Given the description of an element on the screen output the (x, y) to click on. 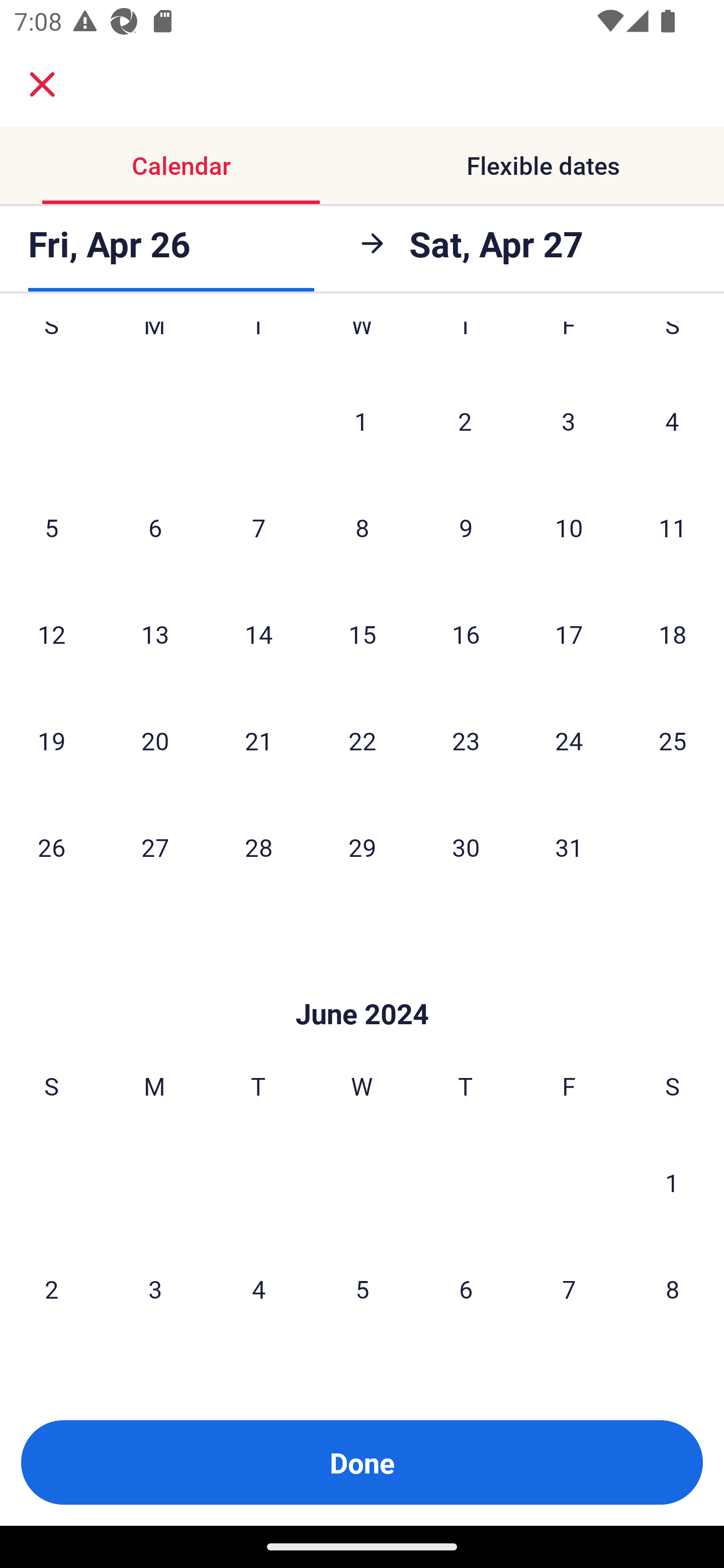
close. (42, 84)
Flexible dates (542, 164)
1 Wednesday, May 1, 2024 (361, 420)
2 Thursday, May 2, 2024 (464, 420)
3 Friday, May 3, 2024 (568, 420)
4 Saturday, May 4, 2024 (672, 420)
5 Sunday, May 5, 2024 (51, 527)
6 Monday, May 6, 2024 (155, 527)
7 Tuesday, May 7, 2024 (258, 527)
8 Wednesday, May 8, 2024 (362, 527)
9 Thursday, May 9, 2024 (465, 527)
10 Friday, May 10, 2024 (569, 527)
11 Saturday, May 11, 2024 (672, 527)
12 Sunday, May 12, 2024 (51, 633)
13 Monday, May 13, 2024 (155, 633)
14 Tuesday, May 14, 2024 (258, 633)
15 Wednesday, May 15, 2024 (362, 633)
16 Thursday, May 16, 2024 (465, 633)
17 Friday, May 17, 2024 (569, 633)
18 Saturday, May 18, 2024 (672, 633)
19 Sunday, May 19, 2024 (51, 739)
20 Monday, May 20, 2024 (155, 739)
21 Tuesday, May 21, 2024 (258, 739)
22 Wednesday, May 22, 2024 (362, 739)
23 Thursday, May 23, 2024 (465, 739)
24 Friday, May 24, 2024 (569, 739)
25 Saturday, May 25, 2024 (672, 739)
26 Sunday, May 26, 2024 (51, 846)
27 Monday, May 27, 2024 (155, 846)
28 Tuesday, May 28, 2024 (258, 846)
29 Wednesday, May 29, 2024 (362, 846)
30 Thursday, May 30, 2024 (465, 846)
31 Friday, May 31, 2024 (569, 846)
Skip to Done (362, 983)
1 Saturday, June 1, 2024 (672, 1182)
2 Sunday, June 2, 2024 (51, 1288)
3 Monday, June 3, 2024 (155, 1288)
4 Tuesday, June 4, 2024 (258, 1288)
5 Wednesday, June 5, 2024 (362, 1288)
6 Thursday, June 6, 2024 (465, 1288)
7 Friday, June 7, 2024 (569, 1288)
8 Saturday, June 8, 2024 (672, 1288)
Done (361, 1462)
